Given the description of an element on the screen output the (x, y) to click on. 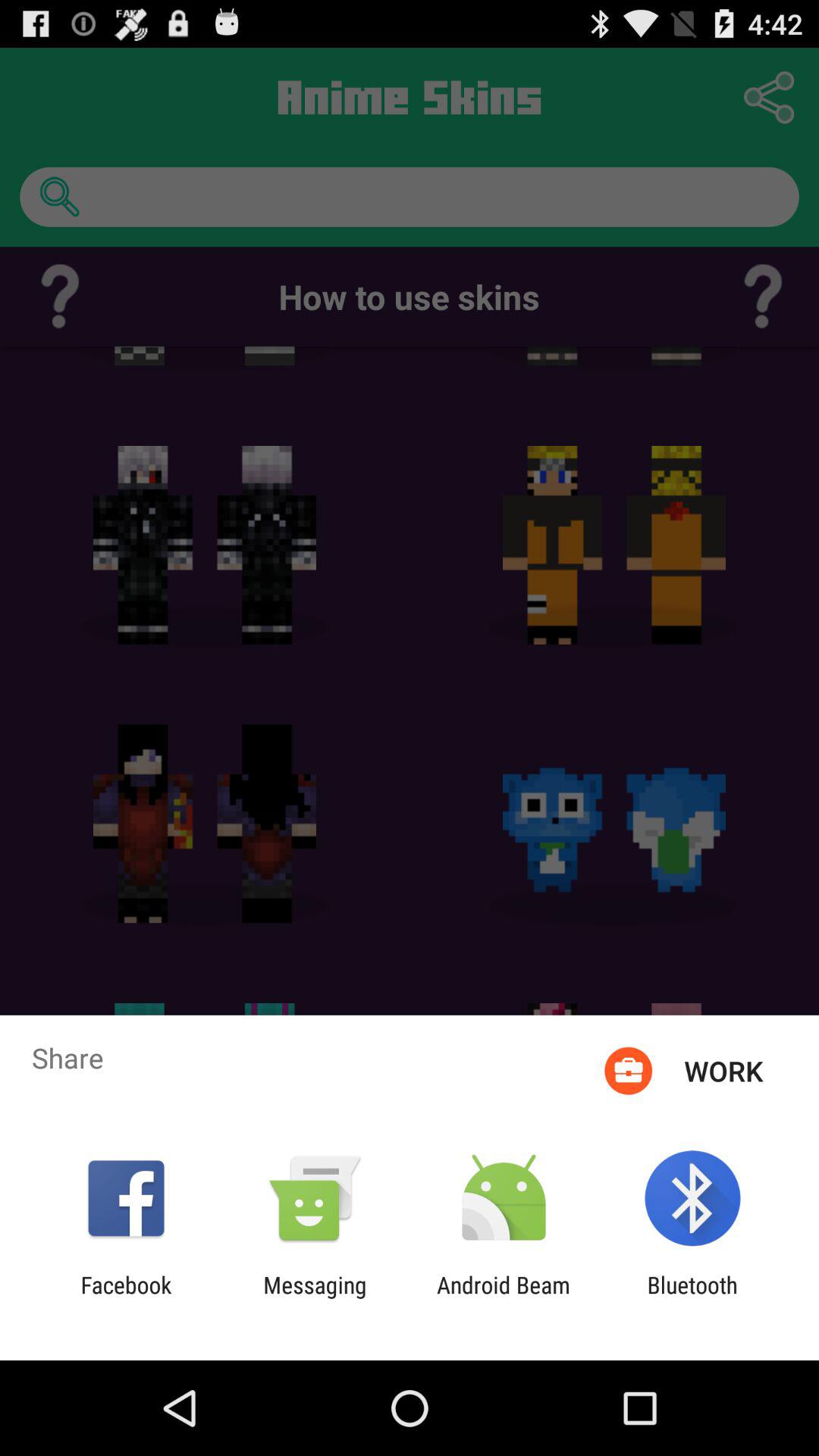
select the icon to the left of the android beam app (314, 1298)
